Given the description of an element on the screen output the (x, y) to click on. 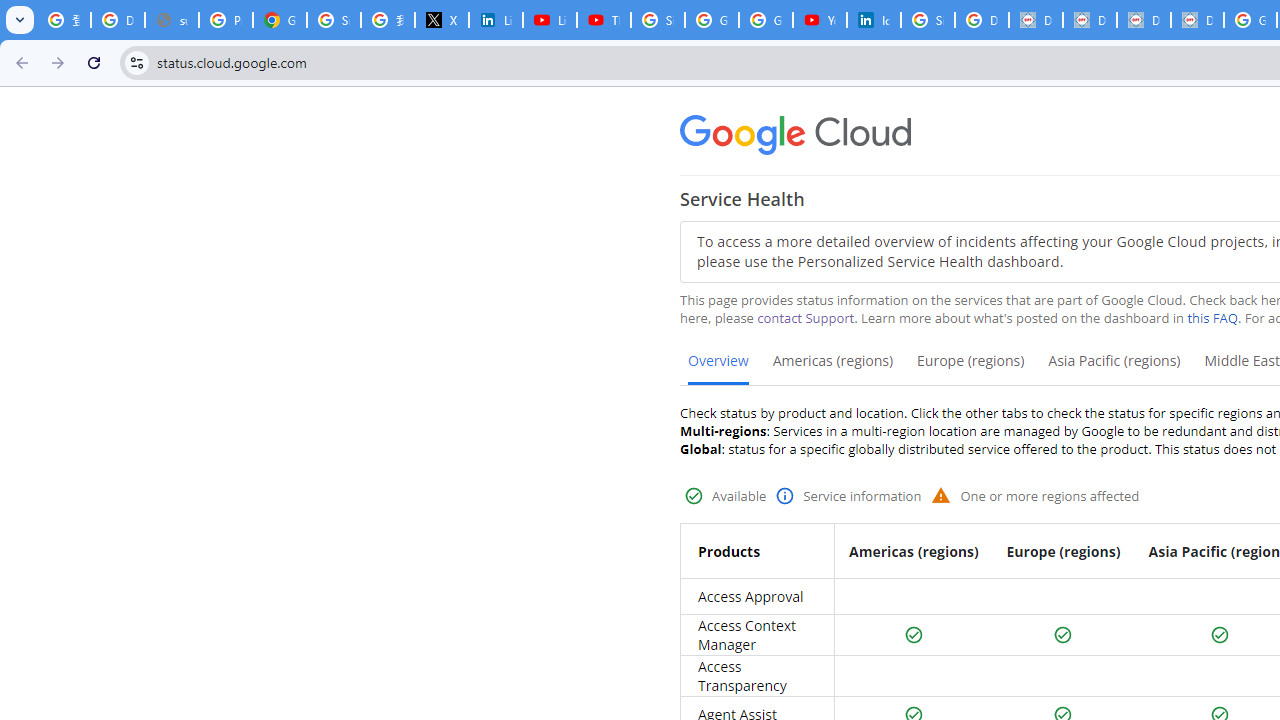
LinkedIn Privacy Policy (495, 20)
Informational status (784, 496)
Privacy Help Center - Policies Help (225, 20)
Americas (regions) (832, 368)
Warning status (941, 494)
